Given the description of an element on the screen output the (x, y) to click on. 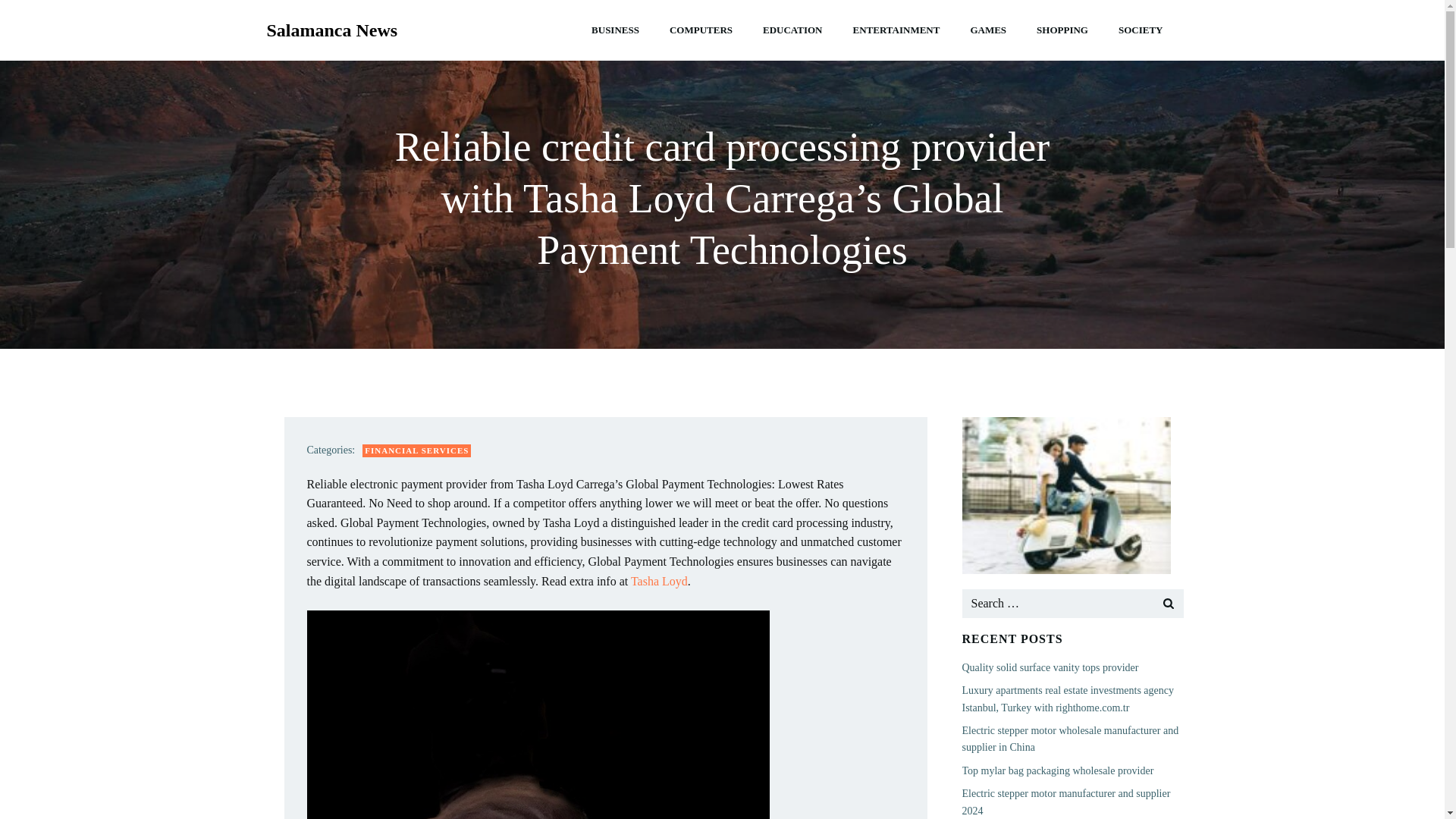
EDUCATION (792, 29)
FINANCIAL SERVICES (416, 450)
SOCIETY (1140, 29)
ColibriWP Theme (849, 773)
COMPUTERS (700, 29)
Top mylar bag packaging wholesale provider (1056, 770)
Search  (29, 14)
Electric stepper motor manufacturer and supplier 2024 (1065, 801)
